Given the description of an element on the screen output the (x, y) to click on. 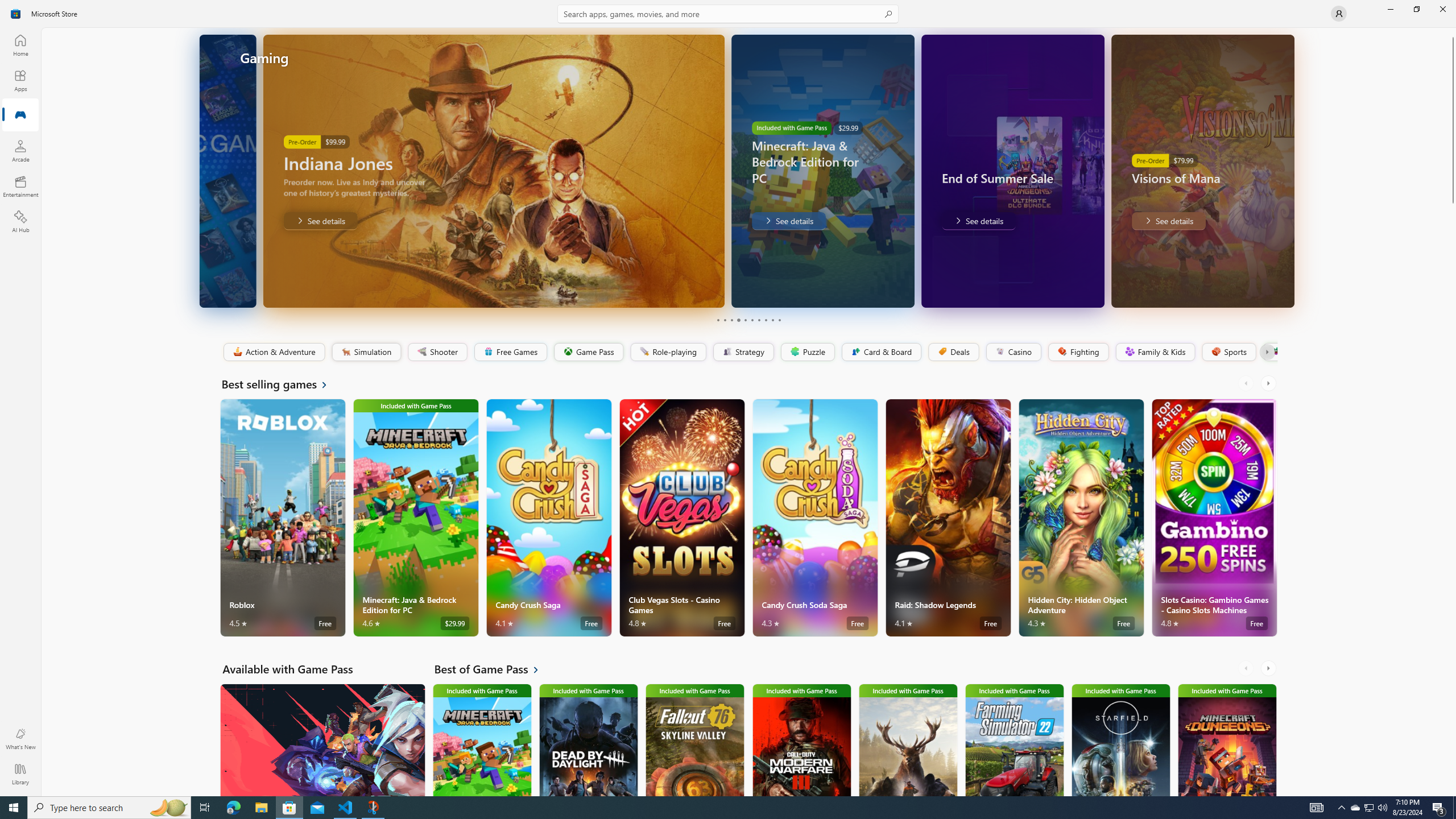
Arcade (20, 150)
Action & Adventure (273, 352)
Page 6 (751, 319)
AutomationID: NavigationControl (728, 398)
Page 3 (731, 319)
Free Games (509, 352)
AI Hub (20, 221)
Page 8 (764, 319)
AutomationID: Image (1290, 170)
Vertical Small Increase (1452, 792)
Family & Kids (1154, 352)
